Given the description of an element on the screen output the (x, y) to click on. 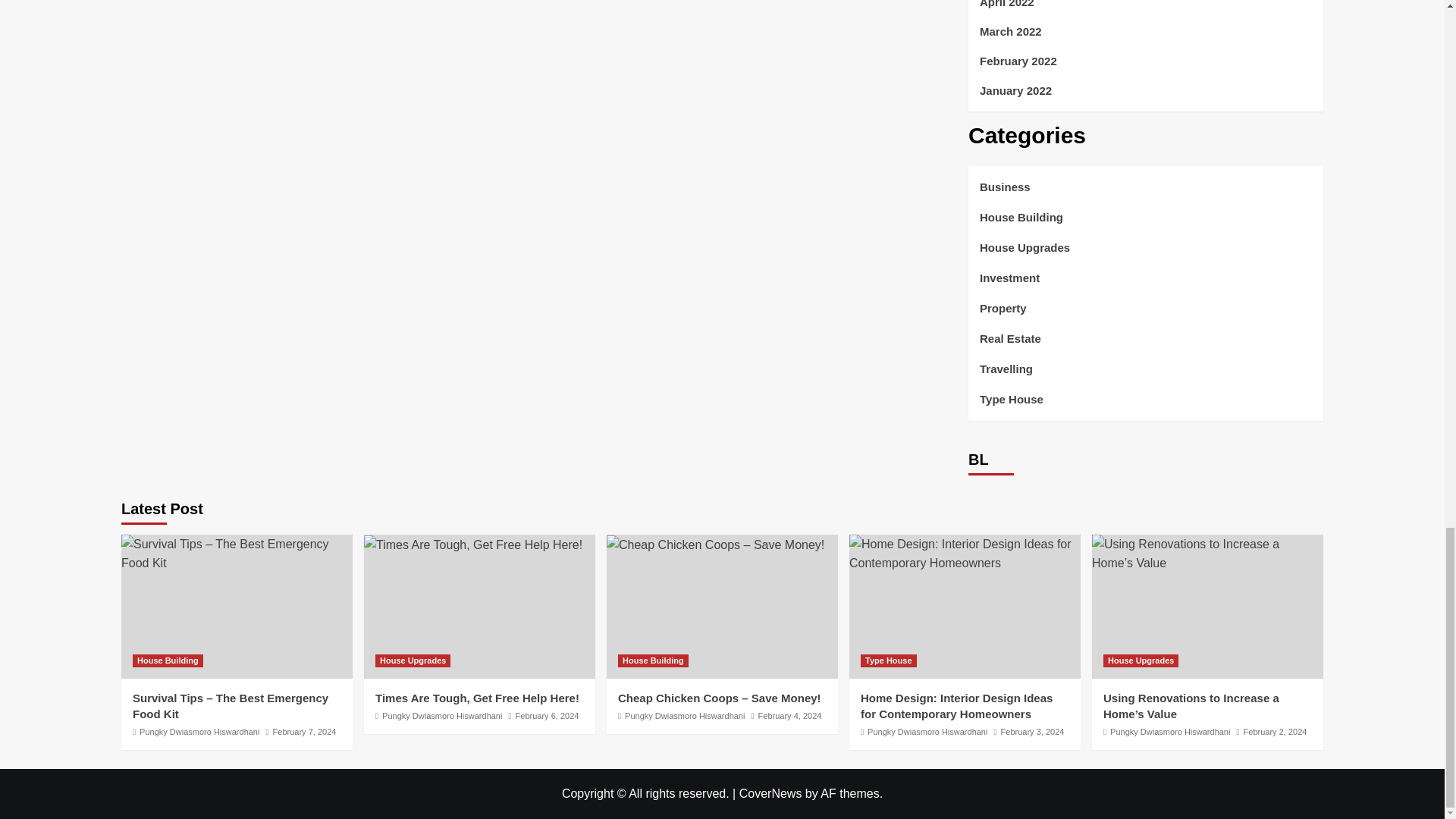
Times Are Tough, Get Free Help Here! (473, 545)
